Given the description of an element on the screen output the (x, y) to click on. 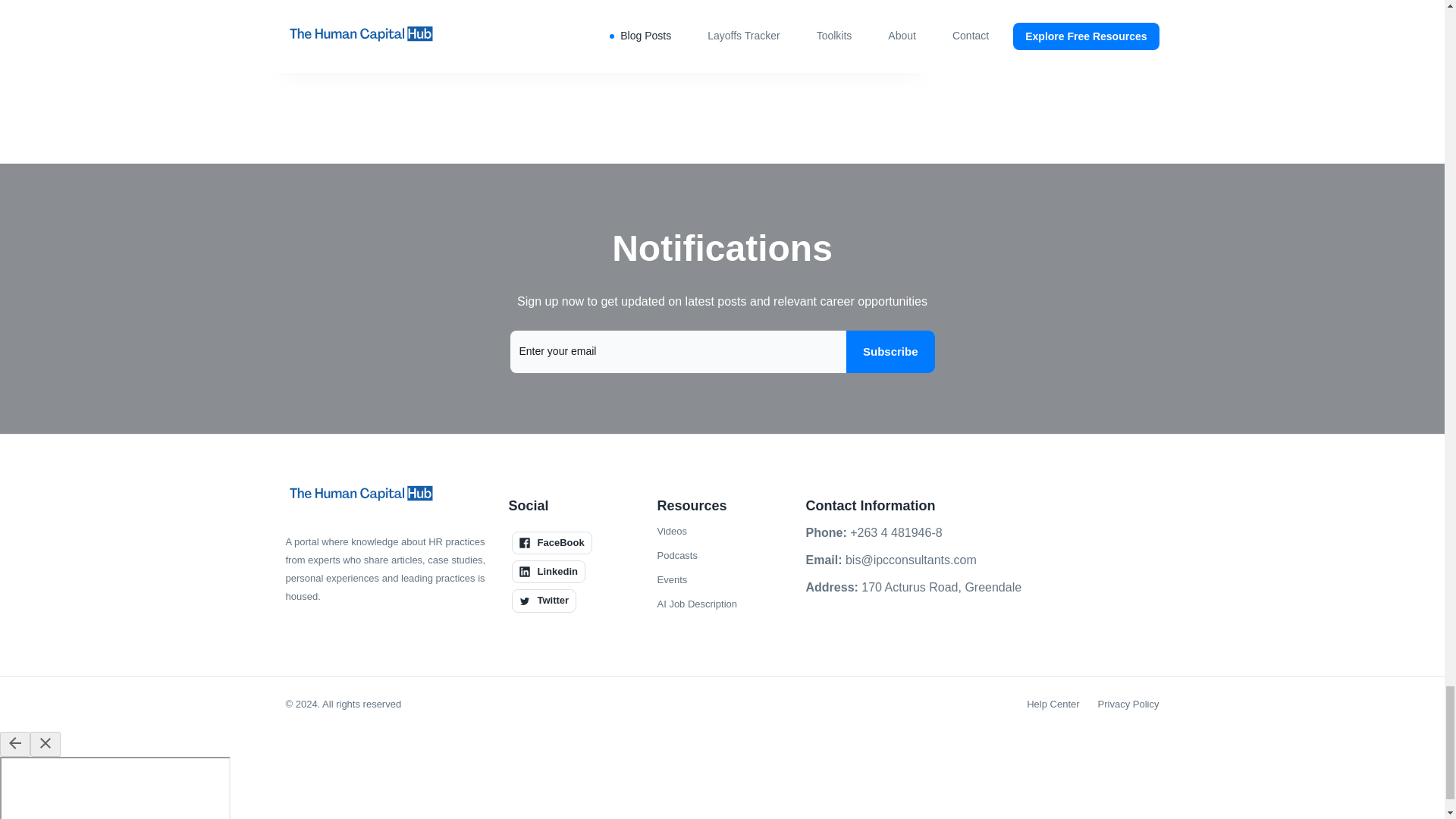
FaceBook (551, 542)
Linkedin (548, 571)
Videos (671, 531)
Events (671, 579)
Podcasts (676, 556)
Help Center (1052, 704)
Subscribe (889, 351)
Twitter (543, 599)
AI Job Description (696, 604)
Privacy Policy (1127, 704)
